Given the description of an element on the screen output the (x, y) to click on. 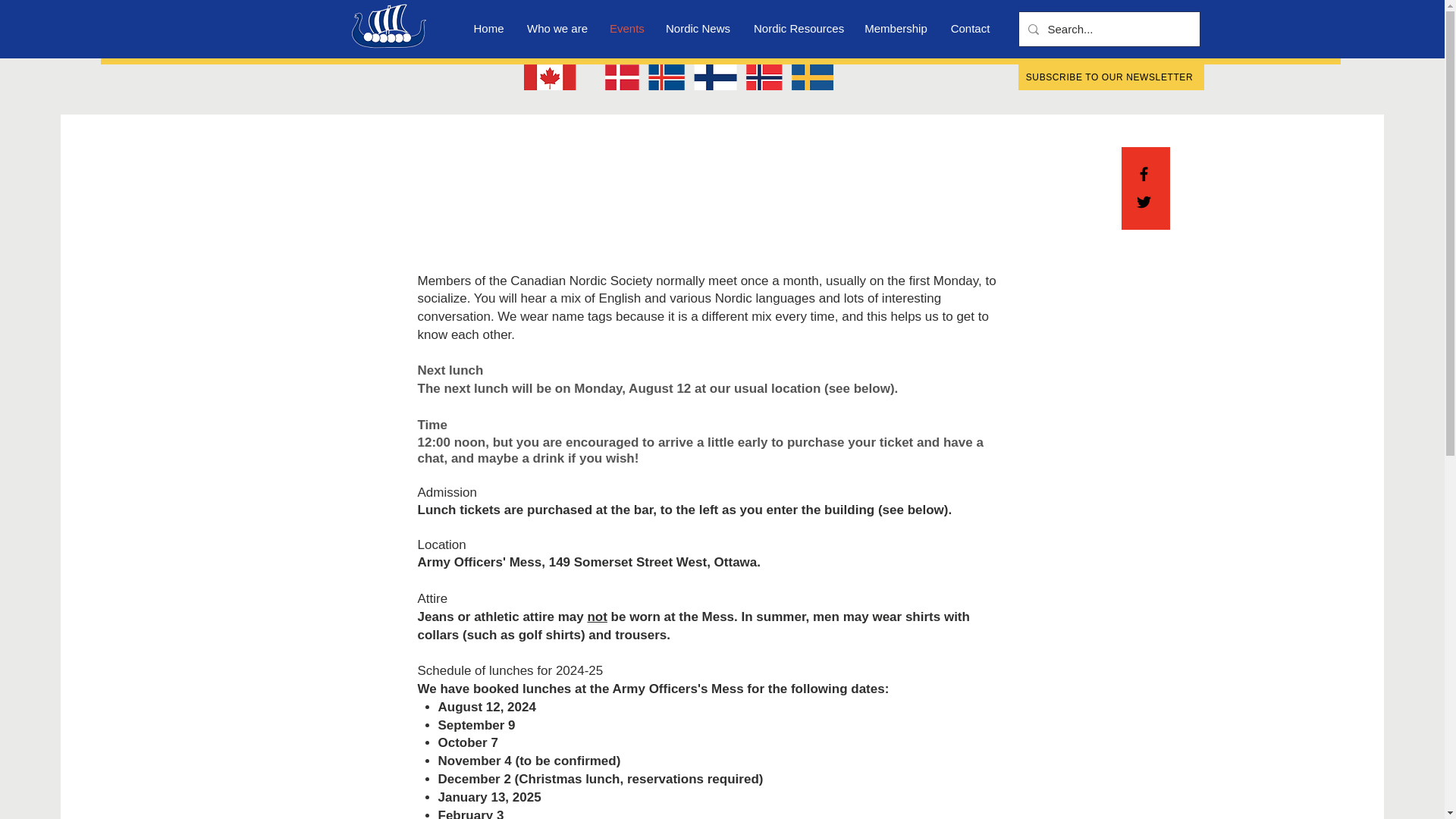
Nordic News (697, 28)
SUBSCRIBE TO OUR NEWSLETTER (1110, 77)
Nordic Resources (797, 28)
Who we are (556, 28)
Contact (970, 28)
Membership (896, 28)
Events (625, 28)
Home (488, 28)
